Given the description of an element on the screen output the (x, y) to click on. 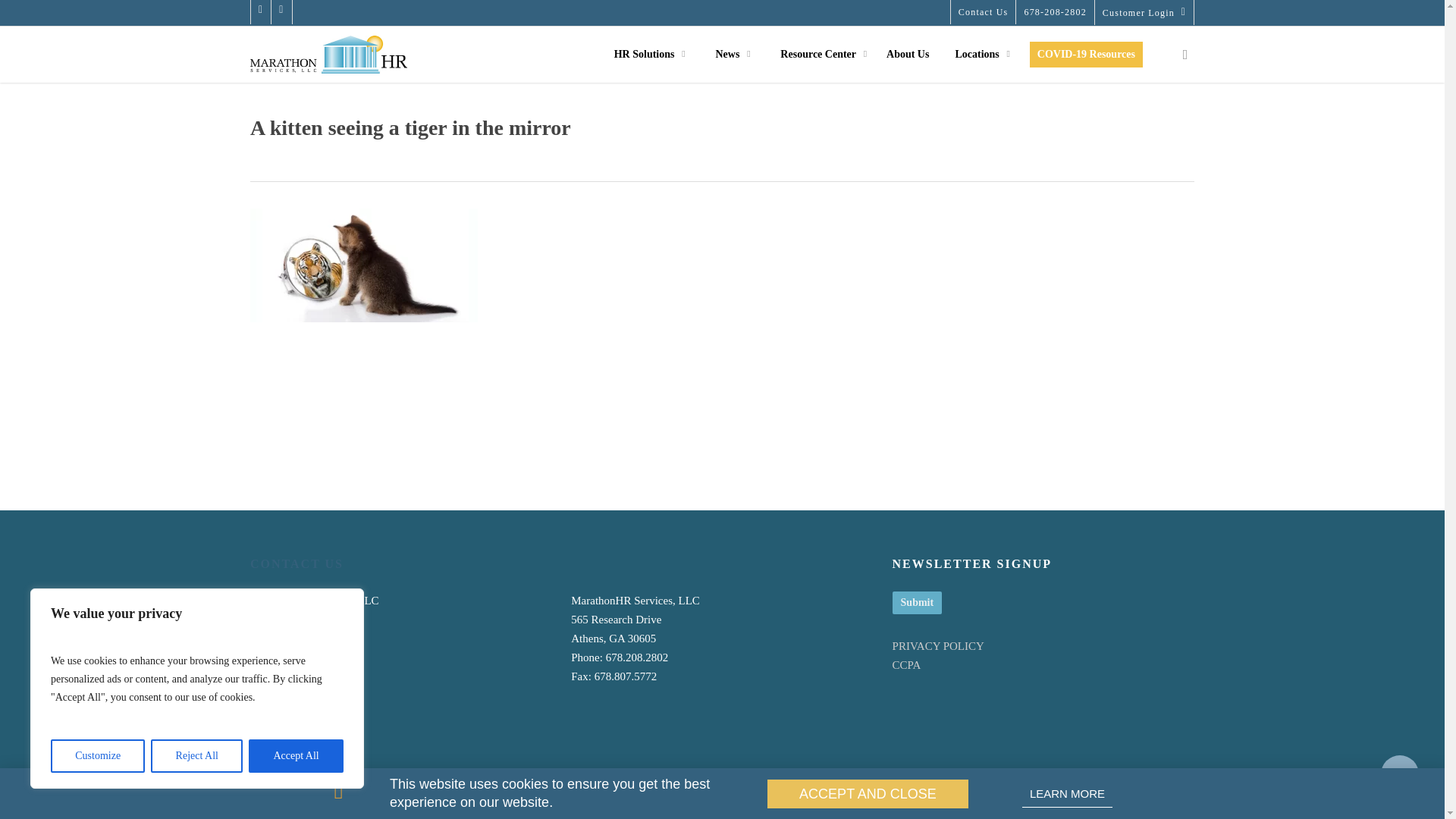
Contact Us (983, 12)
678-208-2802 (1053, 12)
Submit (917, 602)
Customer Login (1143, 12)
HR Solutions (647, 54)
Customize (97, 756)
Accept All (295, 756)
Reject All (197, 756)
